Given the description of an element on the screen output the (x, y) to click on. 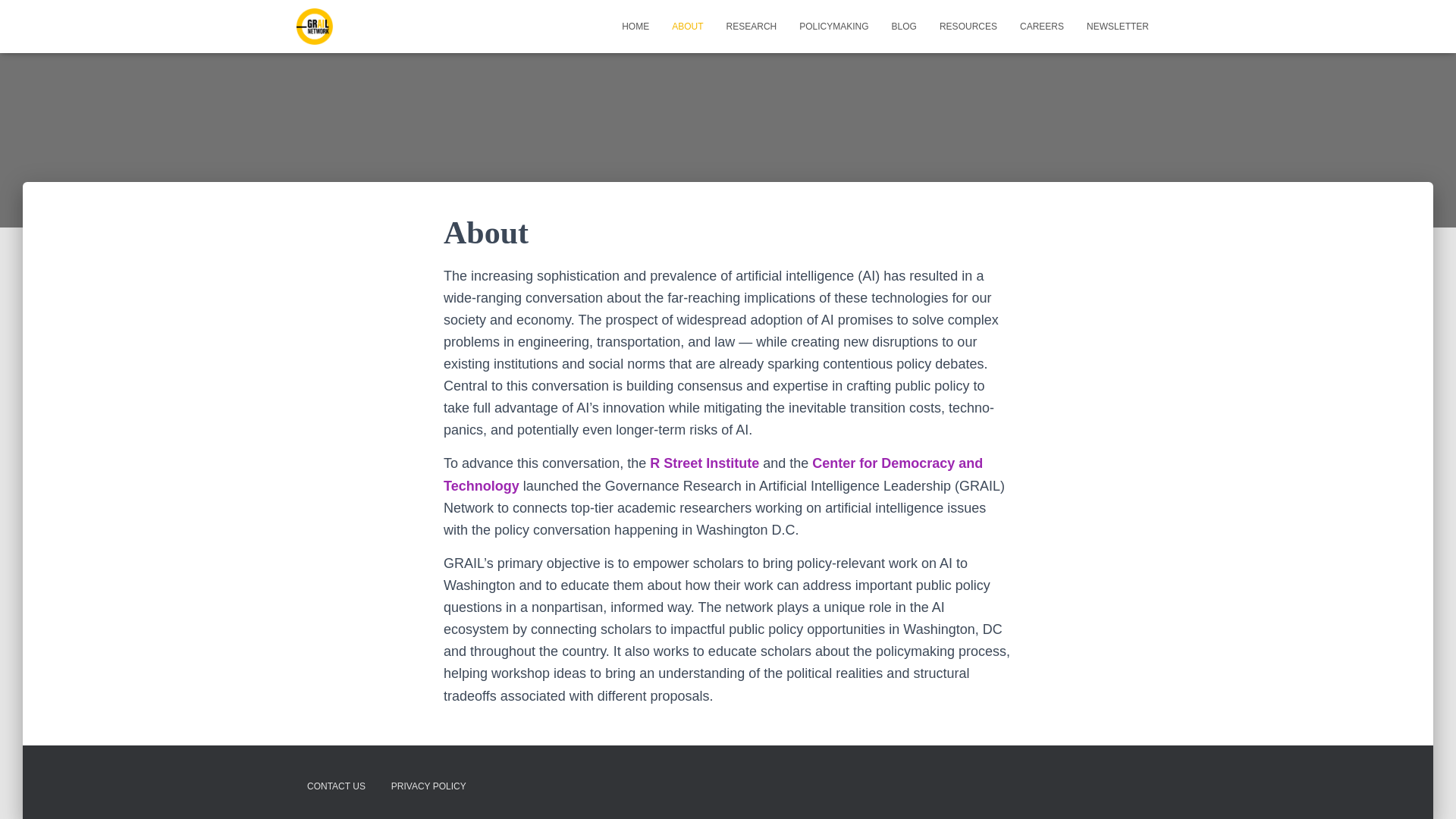
R Street Institute (703, 462)
Newsletter (1117, 26)
Center for Democracy and Technology (713, 474)
NEWSLETTER (1117, 26)
Careers (1042, 26)
Research (751, 26)
RESOURCES (968, 26)
BLOG (904, 26)
About (687, 26)
POLICYMAKING (833, 26)
CONTACT US (336, 786)
Grail Network (314, 26)
CAREERS (1042, 26)
Home (635, 26)
RESEARCH (751, 26)
